Given the description of an element on the screen output the (x, y) to click on. 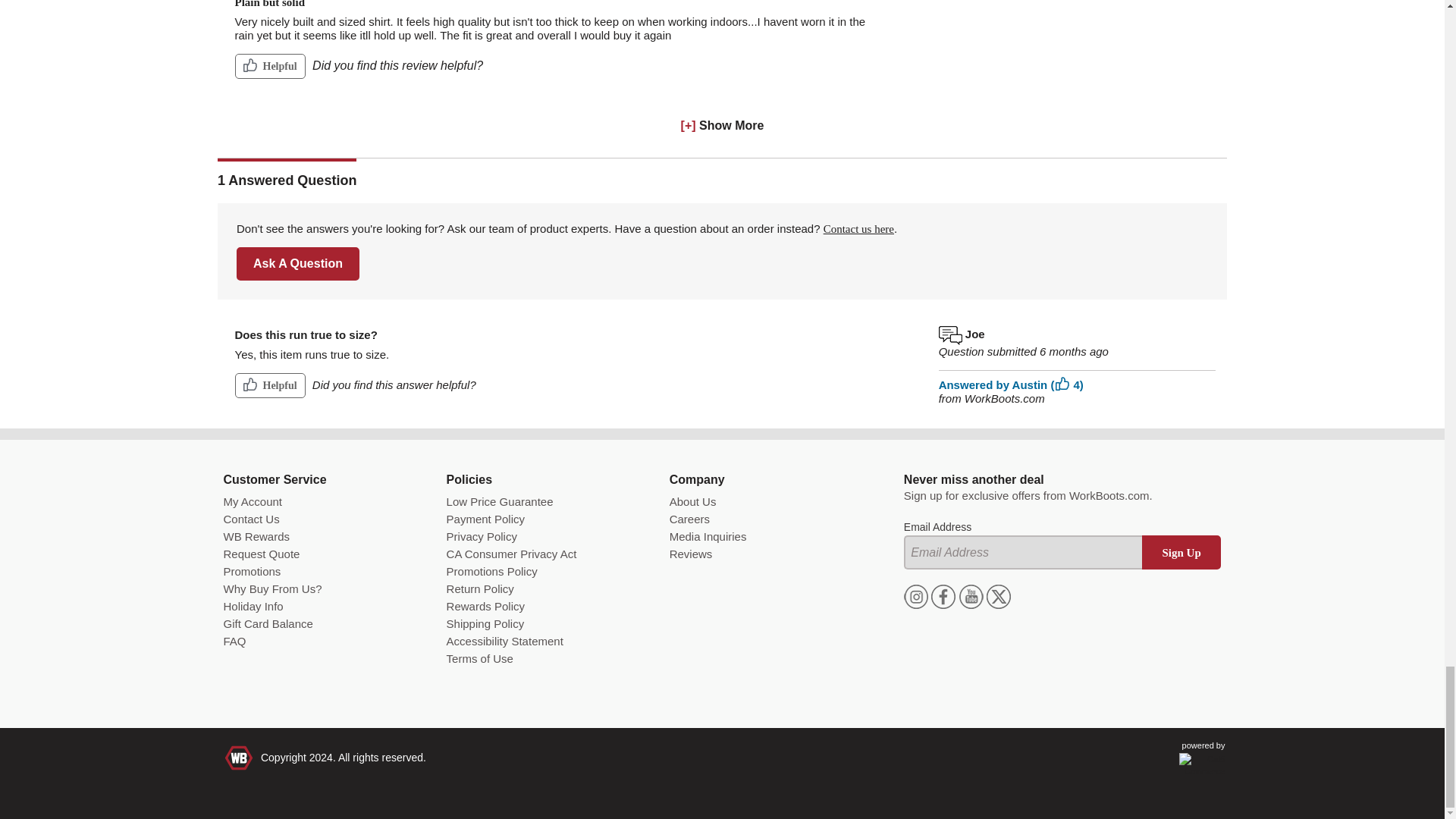
sign up (1181, 552)
